Given the description of an element on the screen output the (x, y) to click on. 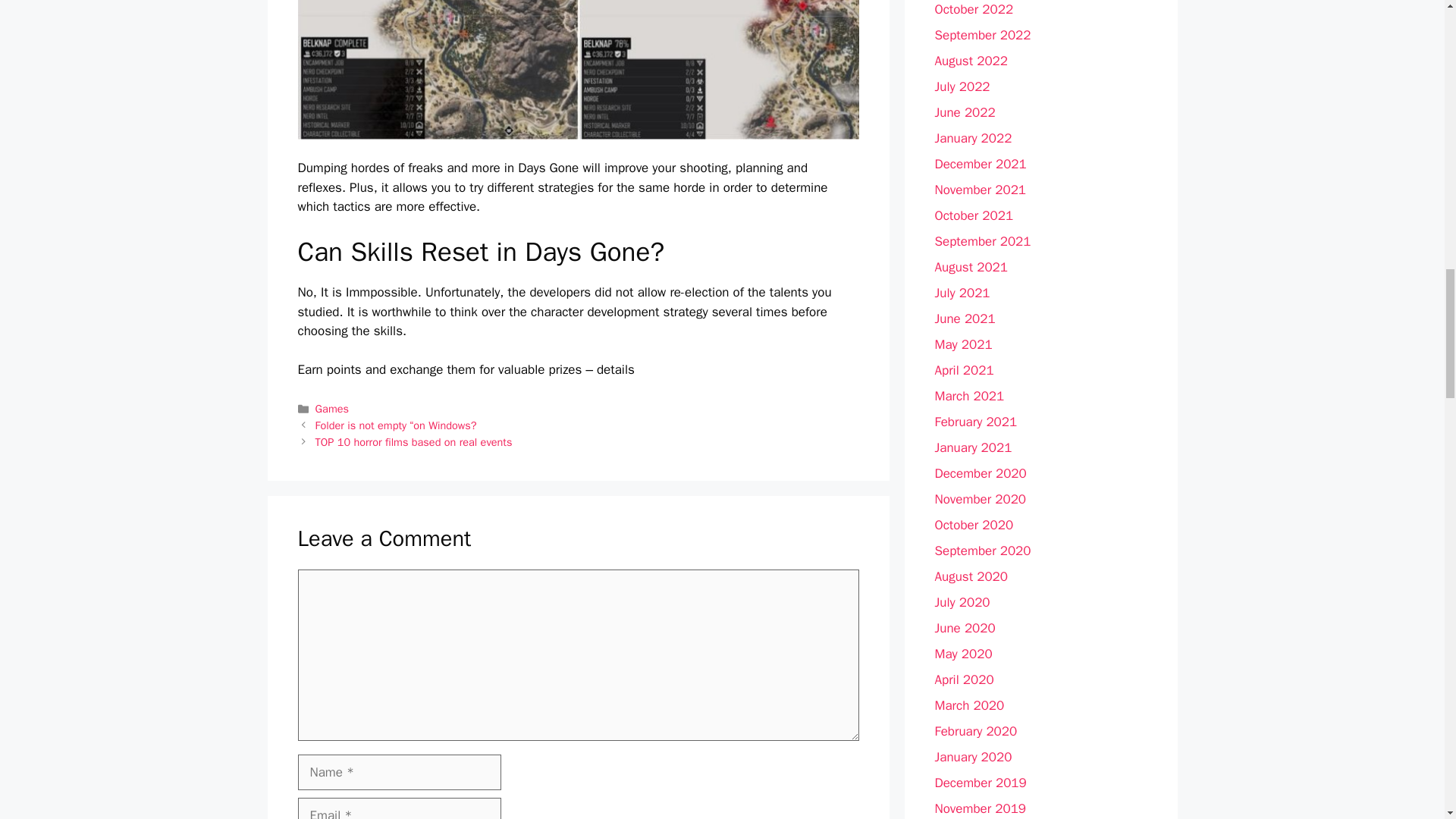
August 2022 (970, 60)
TOP 10 horror films based on real events (413, 441)
Games (332, 408)
September 2022 (982, 35)
July 2022 (962, 86)
October 2022 (973, 9)
